Given the description of an element on the screen output the (x, y) to click on. 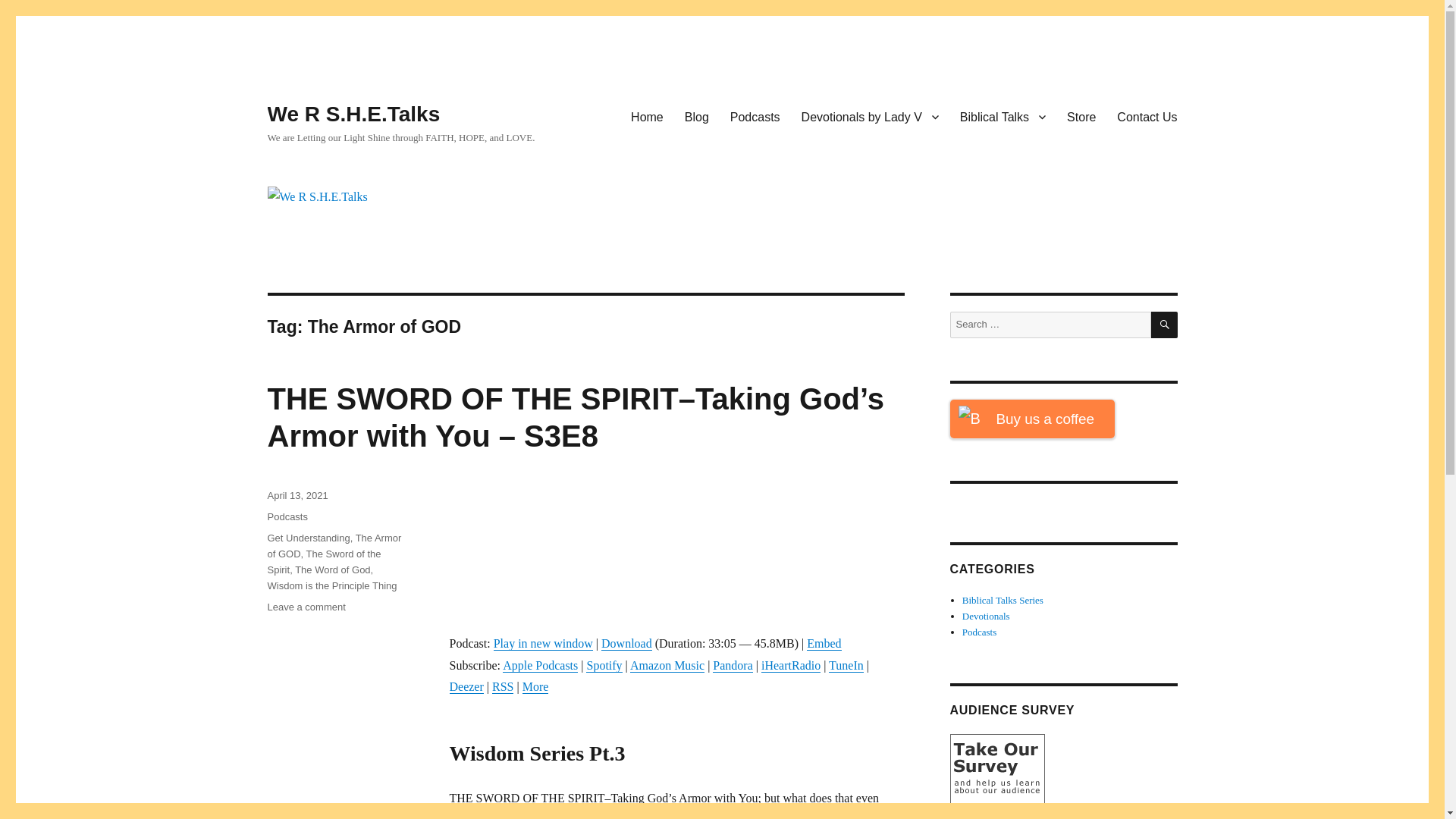
Store (1081, 116)
Subscribe on iHeartRadio (791, 665)
We R S.H.E.Talks (352, 114)
Devotionals by Lady V (869, 116)
Blubrry Podcast Player (676, 548)
The Sword of the Spirit (323, 561)
Get Understanding (307, 537)
Download (626, 643)
iHeartRadio (791, 665)
Subscribe on Spotify (603, 665)
More (535, 686)
Home (647, 116)
Contact Us (1147, 116)
Embed (823, 643)
Subscribe on Pandora (732, 665)
